Given the description of an element on the screen output the (x, y) to click on. 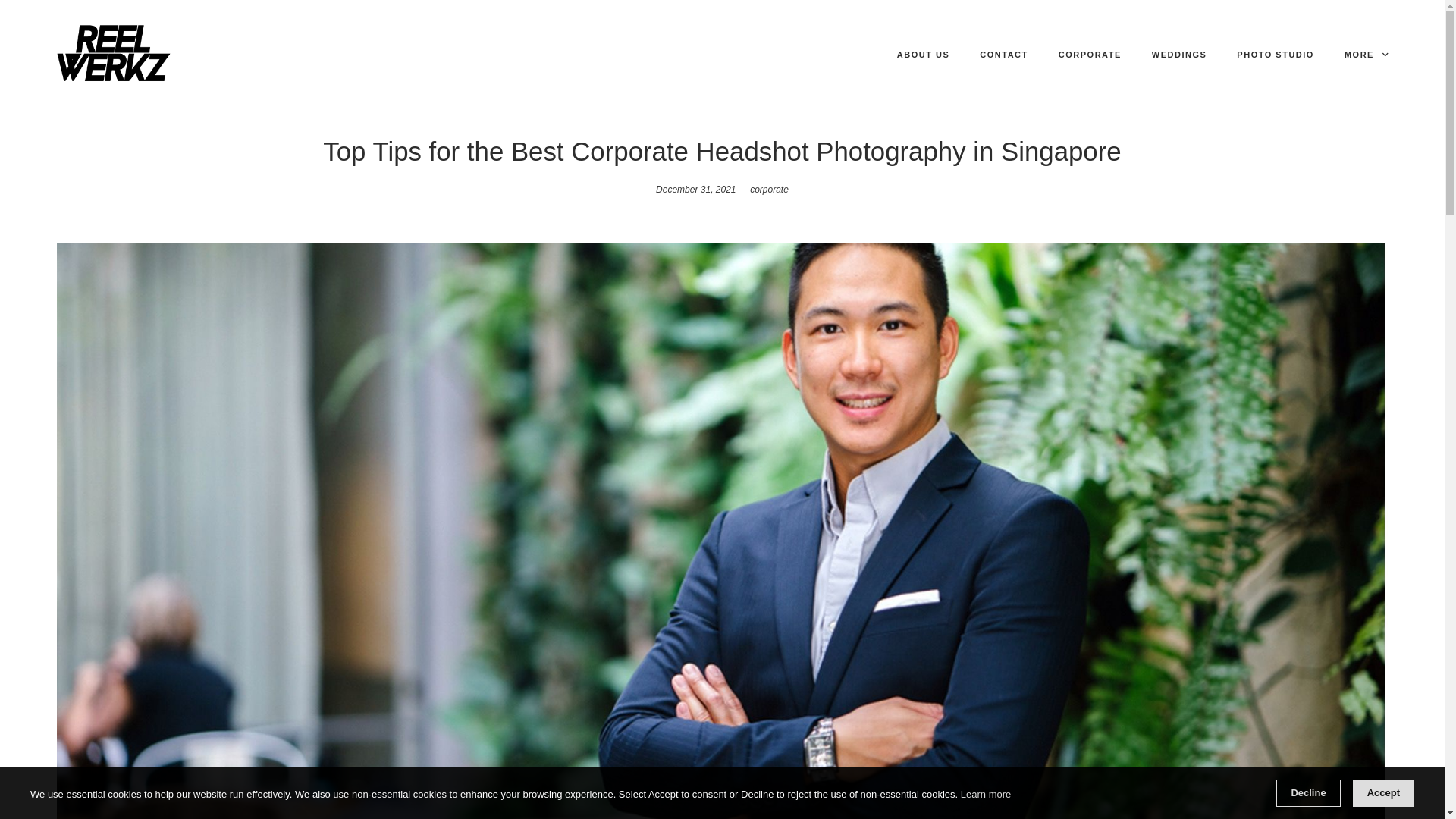
PHOTO STUDIO (1275, 54)
MORE (1365, 54)
Decline (1307, 792)
Learn more (985, 793)
CONTACT (1003, 54)
corporate (769, 189)
Accept (1382, 792)
ABOUT US (922, 54)
CORPORATE (1090, 54)
WEDDINGS (1179, 54)
